Given the description of an element on the screen output the (x, y) to click on. 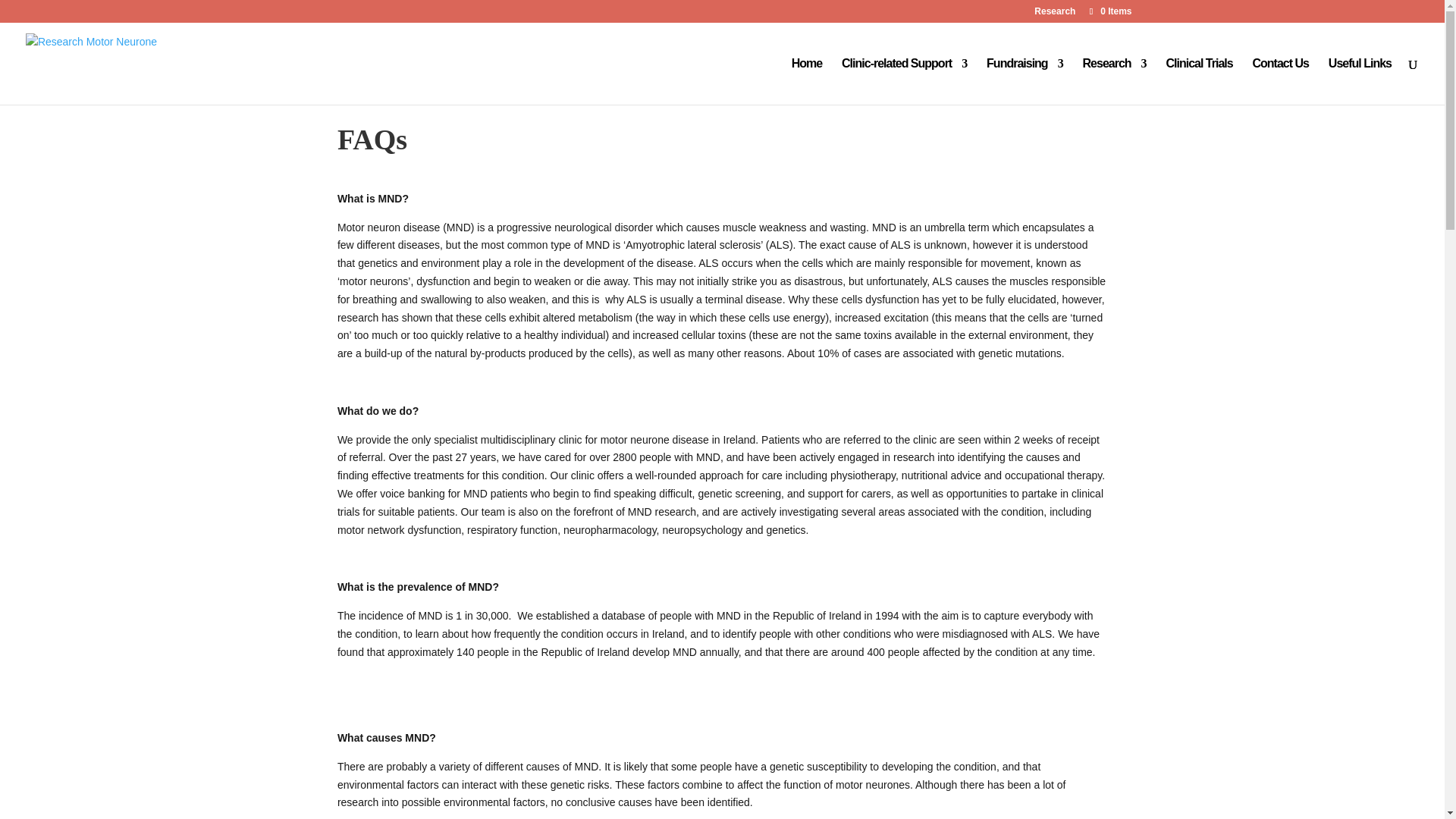
0 Items (1108, 10)
Research (1054, 14)
Research (1115, 81)
Clinic-related Support (903, 81)
Clinical Trials (1198, 81)
Contact Us (1280, 81)
Useful Links (1359, 81)
Fundraising (1024, 81)
